Given the description of an element on the screen output the (x, y) to click on. 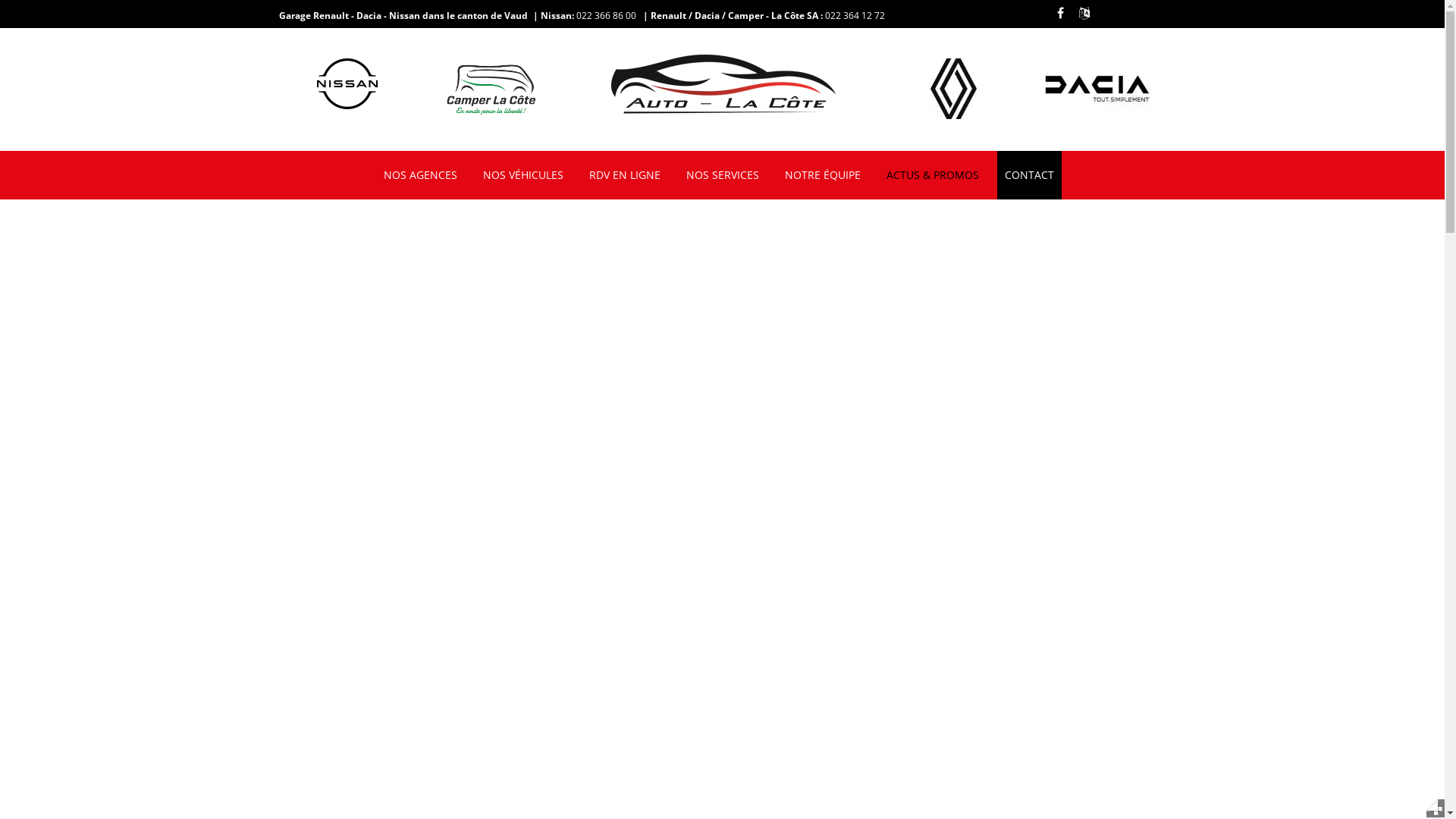
RDV EN LIGNE Element type: text (623, 174)
CONTACT Element type: text (1028, 174)
NOS SERVICES Element type: text (721, 174)
NOS AGENCES Element type: text (420, 174)
NISSAN Drop Off Point Element type: hover (721, 83)
ACTUS & PROMOS Element type: text (931, 174)
